Given the description of an element on the screen output the (x, y) to click on. 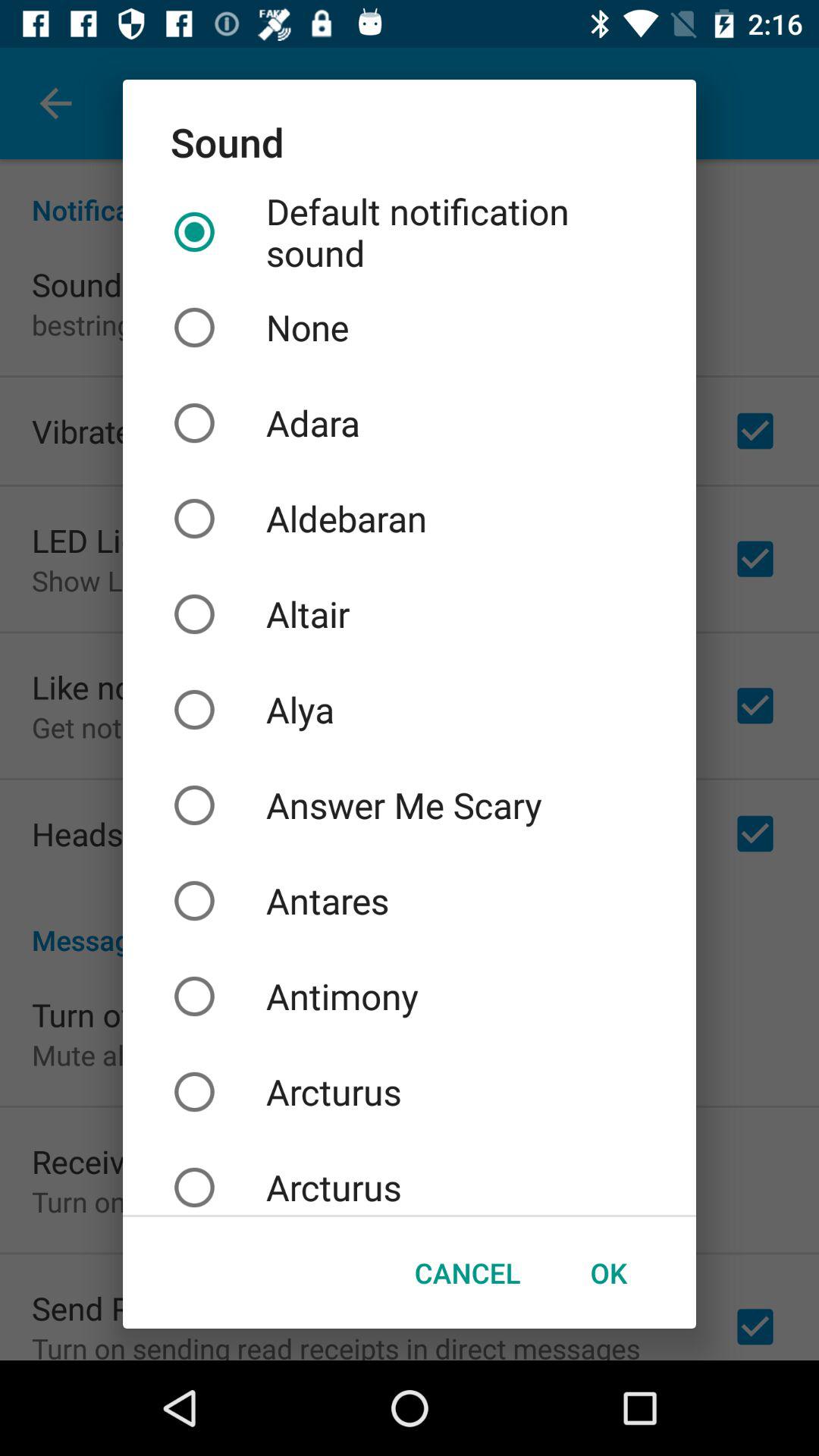
open the cancel button (467, 1272)
